Given the description of an element on the screen output the (x, y) to click on. 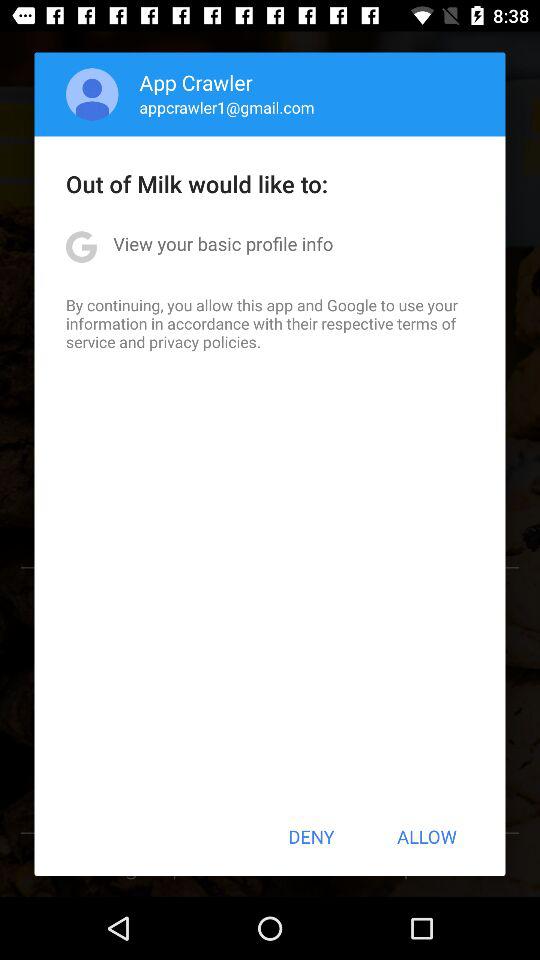
scroll until appcrawler1@gmail.com icon (226, 107)
